Given the description of an element on the screen output the (x, y) to click on. 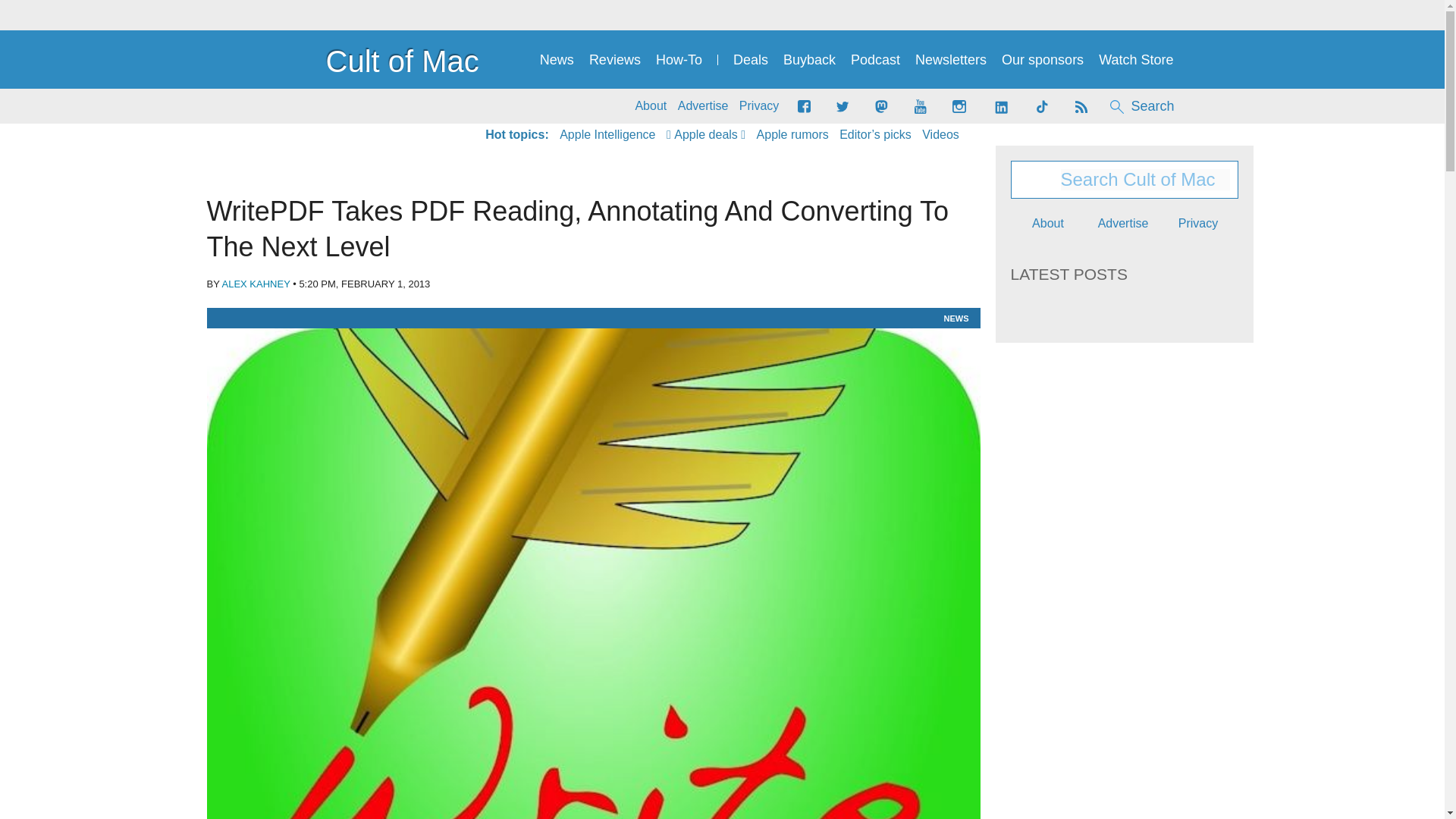
Apple deals  (705, 134)
Apple rumors (792, 134)
Advertise (703, 105)
Our sponsors (1042, 59)
Posts by Alex Kahney (255, 283)
How-To (678, 59)
About (650, 105)
Apple Intelligence (607, 134)
Apple legal battles (792, 134)
